Given the description of an element on the screen output the (x, y) to click on. 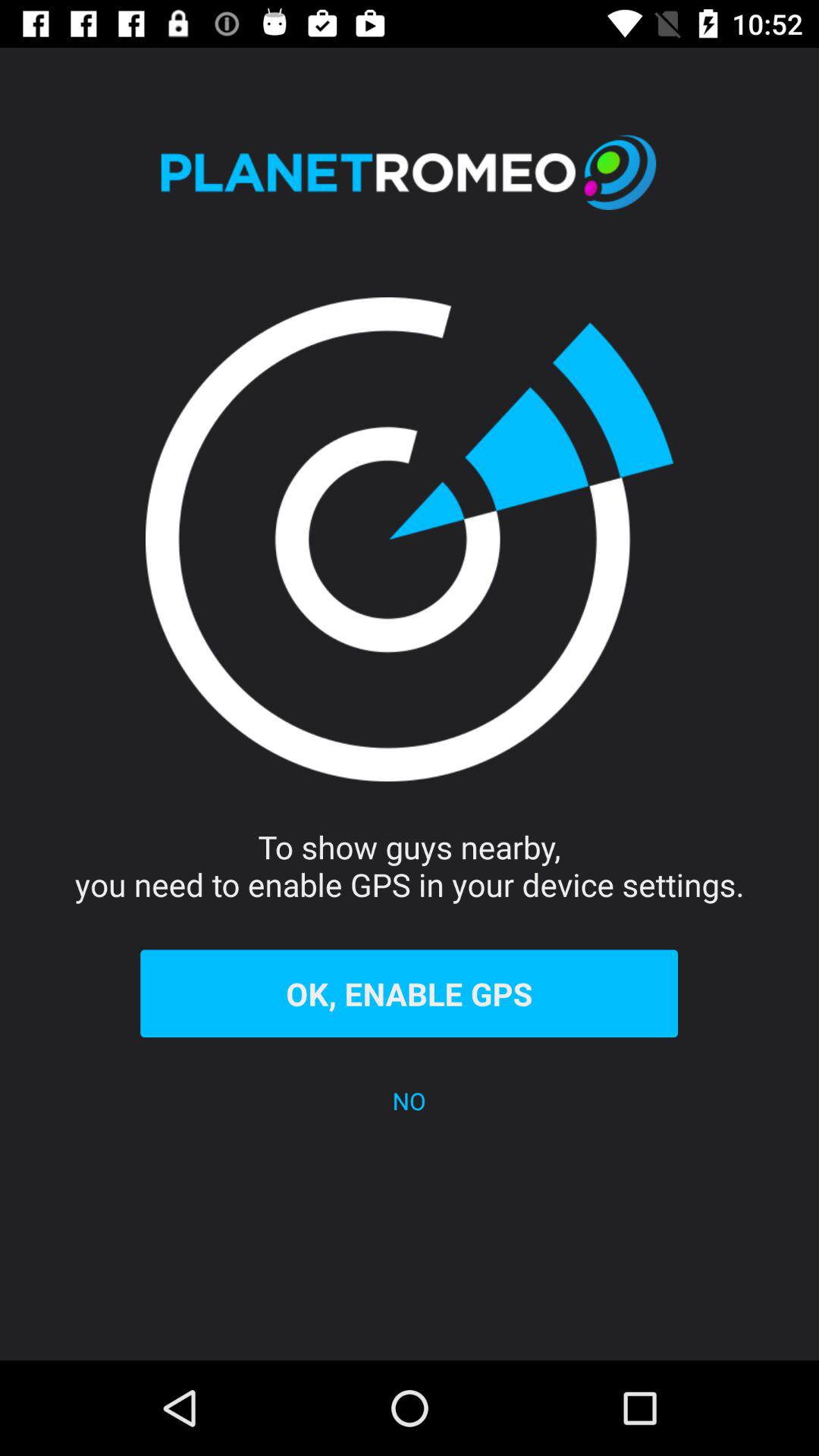
select item below the ok, enable gps item (408, 1100)
